Given the description of an element on the screen output the (x, y) to click on. 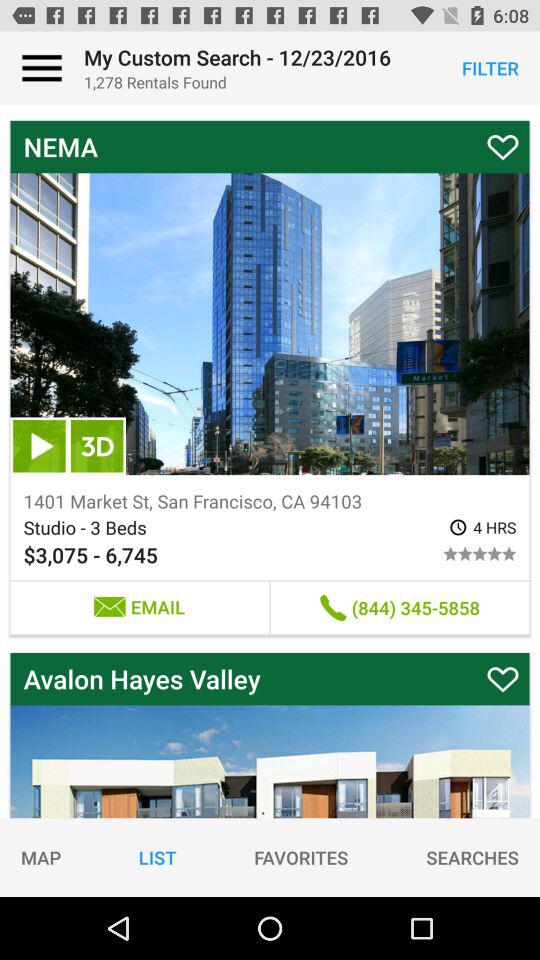
turn on favorites (301, 857)
